Given the description of an element on the screen output the (x, y) to click on. 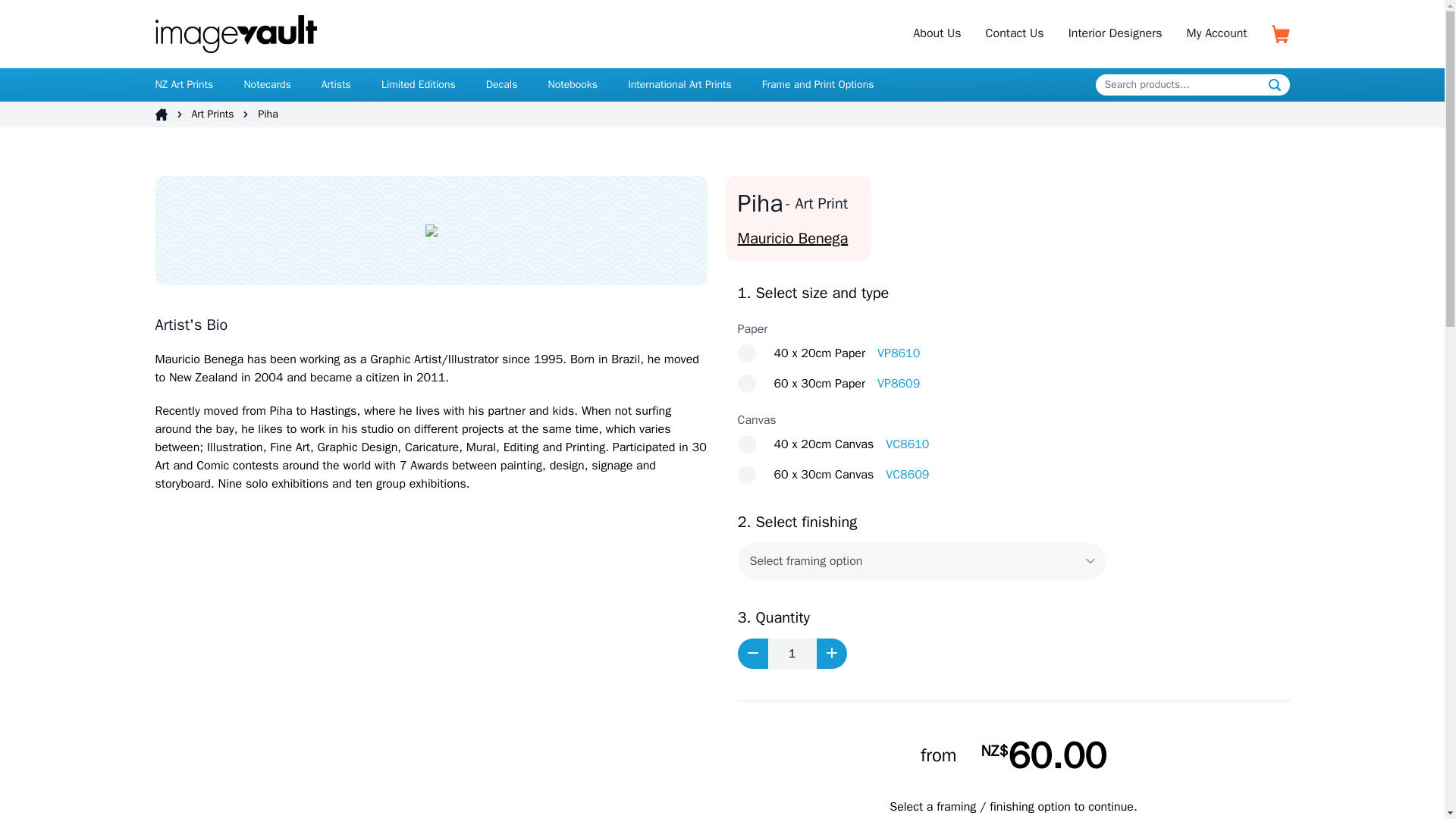
14358 (745, 383)
Contact Us (1014, 33)
Notecards (266, 83)
My Account (1216, 33)
14360 (745, 352)
Limited Editions (418, 83)
14361 (745, 443)
Artists (335, 83)
Interior Designers (1114, 33)
About Us (936, 33)
NZ Art Prints (183, 83)
14359 (745, 475)
Decals (502, 83)
